Given the description of an element on the screen output the (x, y) to click on. 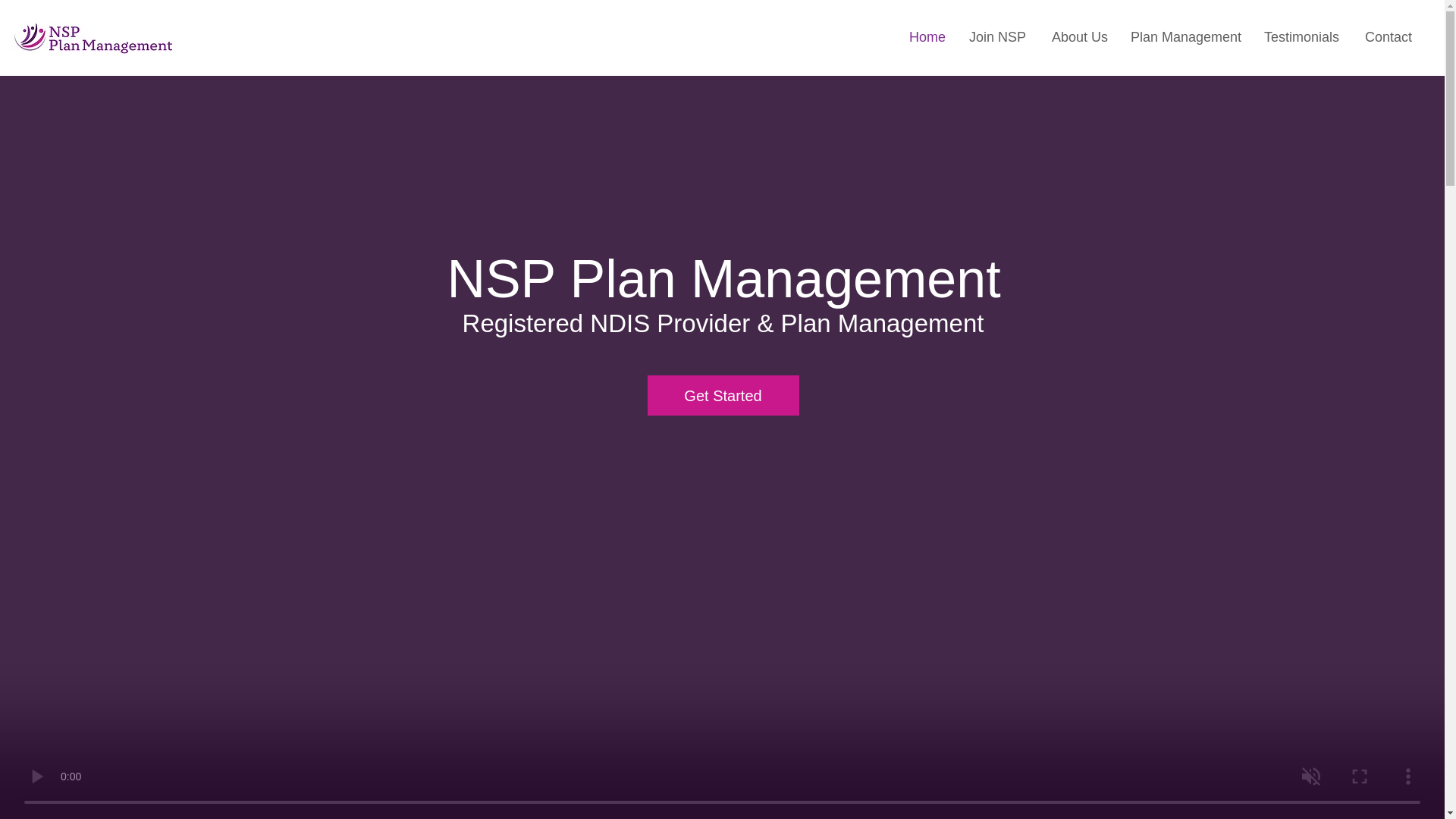
Join NSP (996, 37)
About Us (1077, 37)
Testimonials (1301, 37)
Get Started (723, 395)
Home (925, 37)
